Given the description of an element on the screen output the (x, y) to click on. 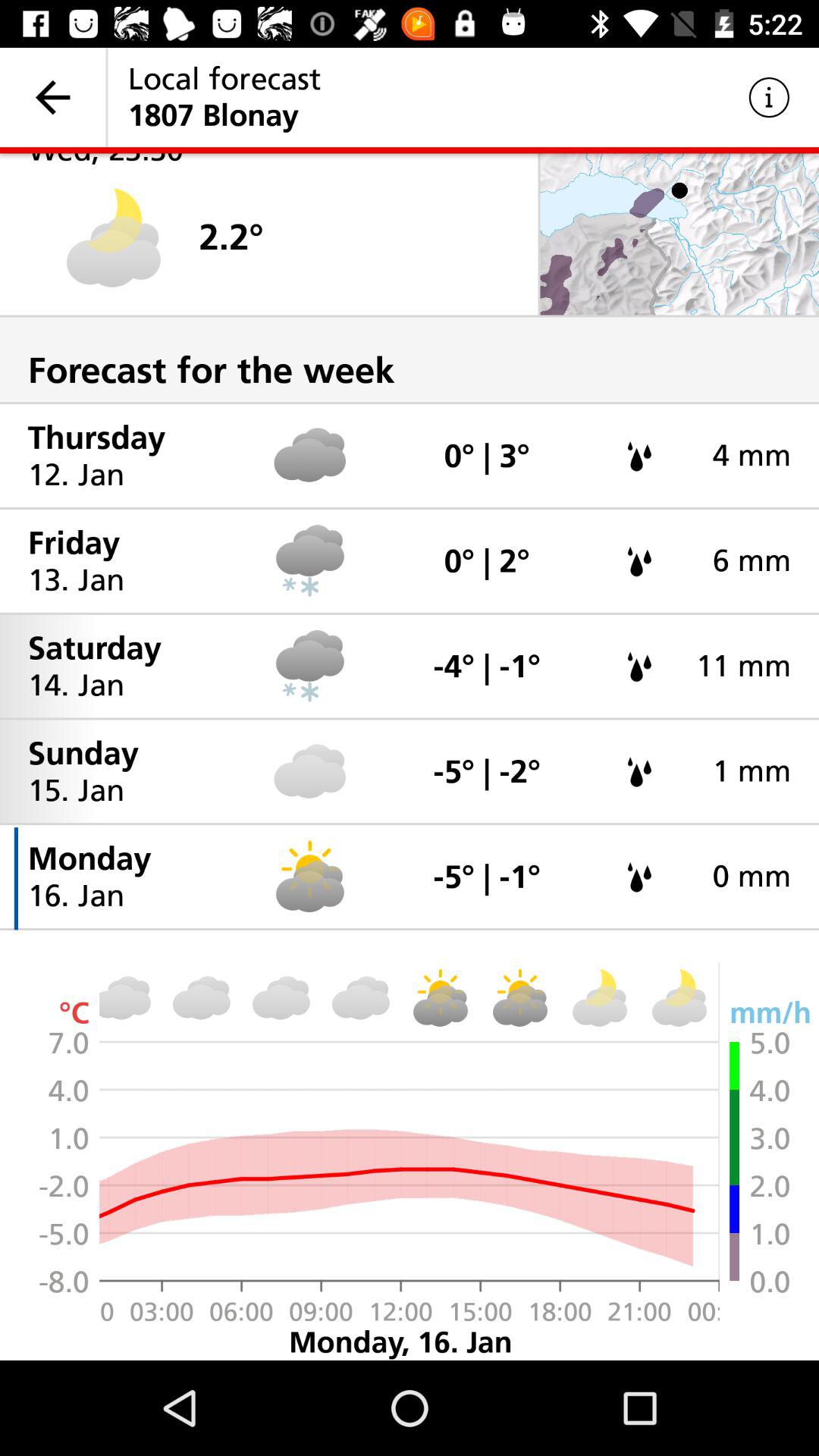
click icon to the right of the local forecast (769, 97)
